Given the description of an element on the screen output the (x, y) to click on. 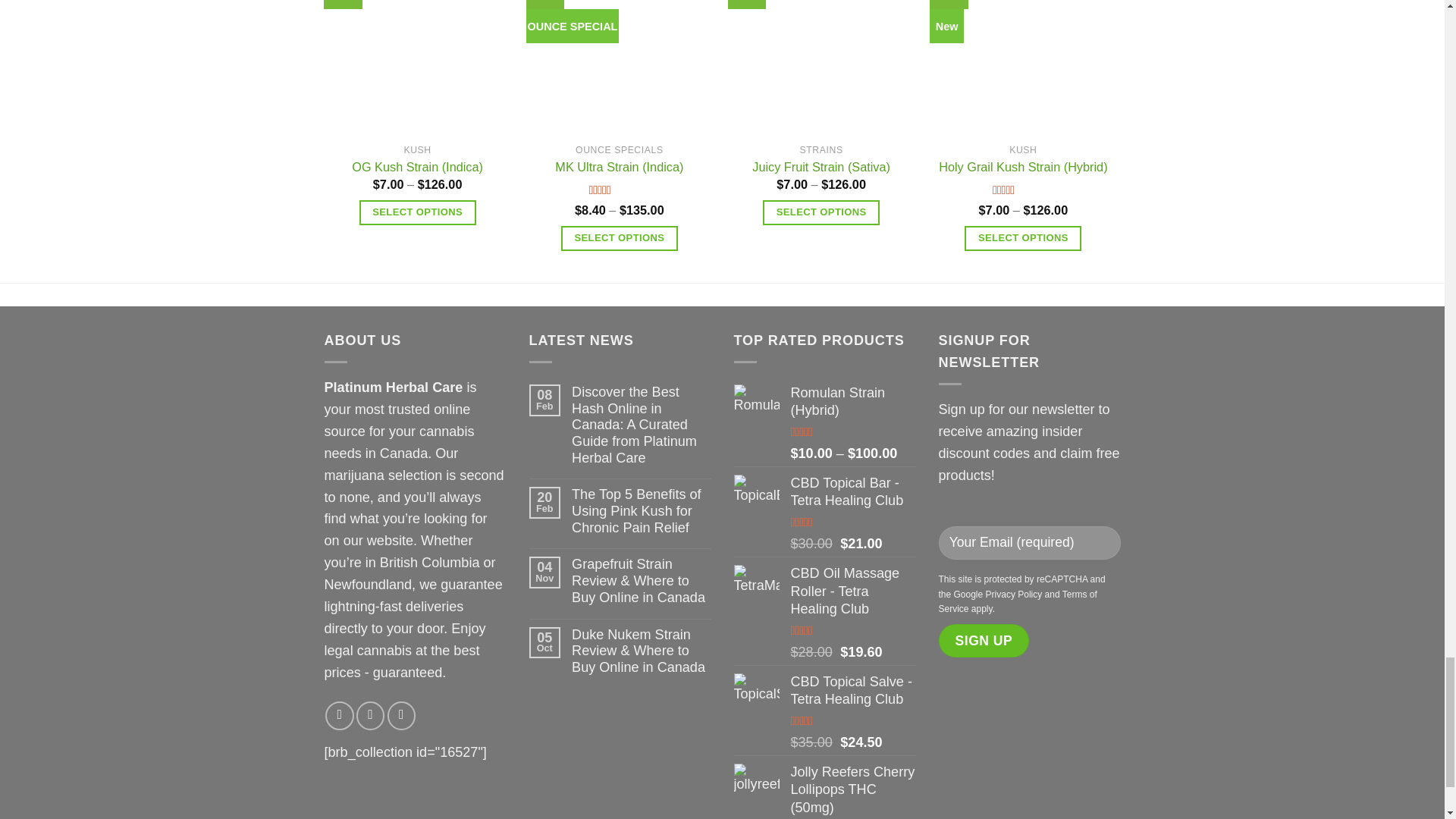
Follow on Instagram (370, 715)
Send us an email (400, 715)
Sign Up (984, 640)
Follow on Facebook (338, 715)
